Given the description of an element on the screen output the (x, y) to click on. 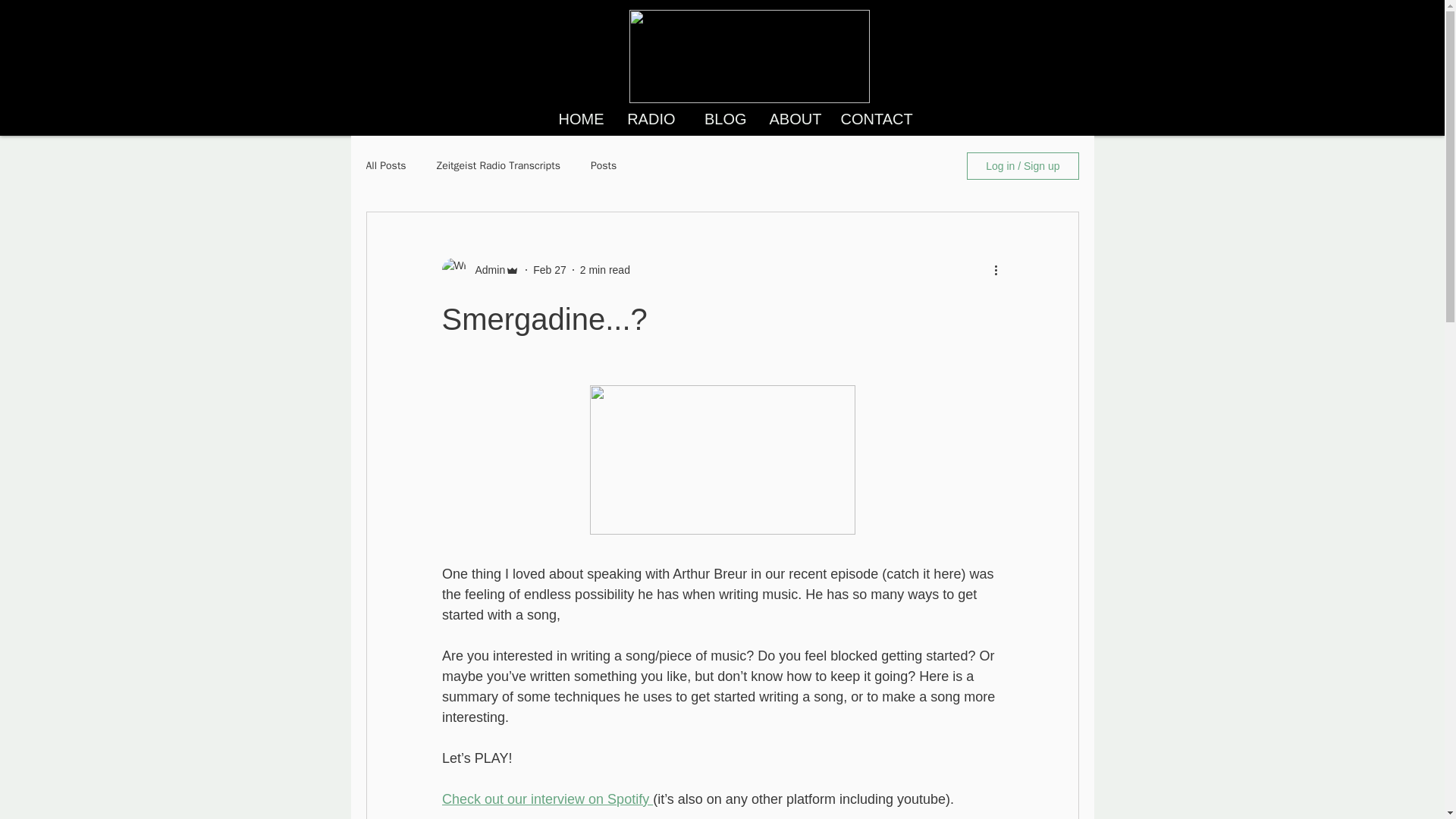
Feb 27 (549, 269)
Zeitgeist Radio Transcripts (498, 165)
BLOG (722, 119)
All Posts (385, 165)
Posts (603, 165)
RADIO (651, 119)
HOME (579, 119)
Check out our interview on Spotify  (546, 798)
Admin (485, 270)
CONTACT (865, 119)
ABOUT (793, 119)
2 min read (604, 269)
